Given the description of an element on the screen output the (x, y) to click on. 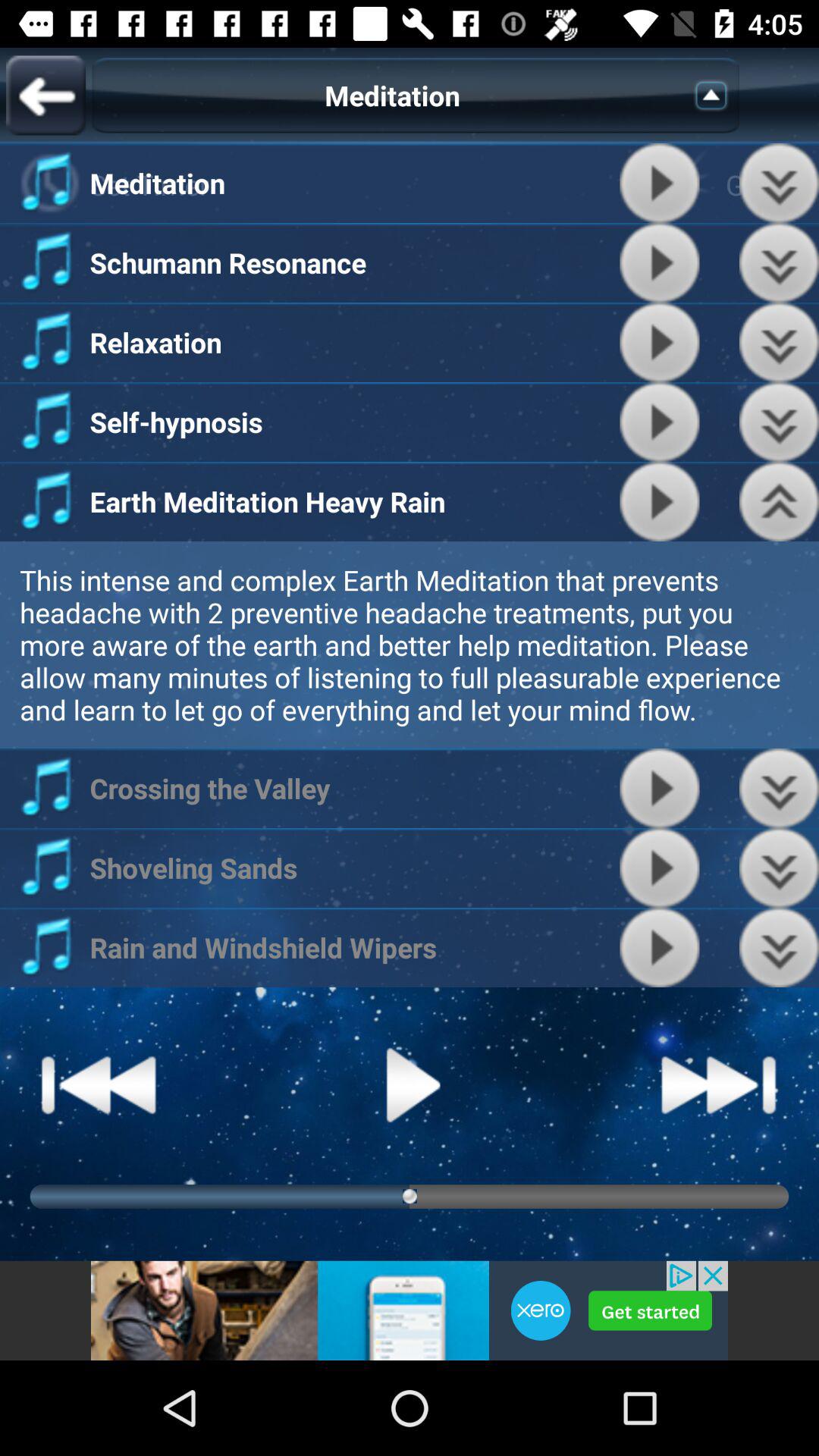
play (659, 262)
